Given the description of an element on the screen output the (x, y) to click on. 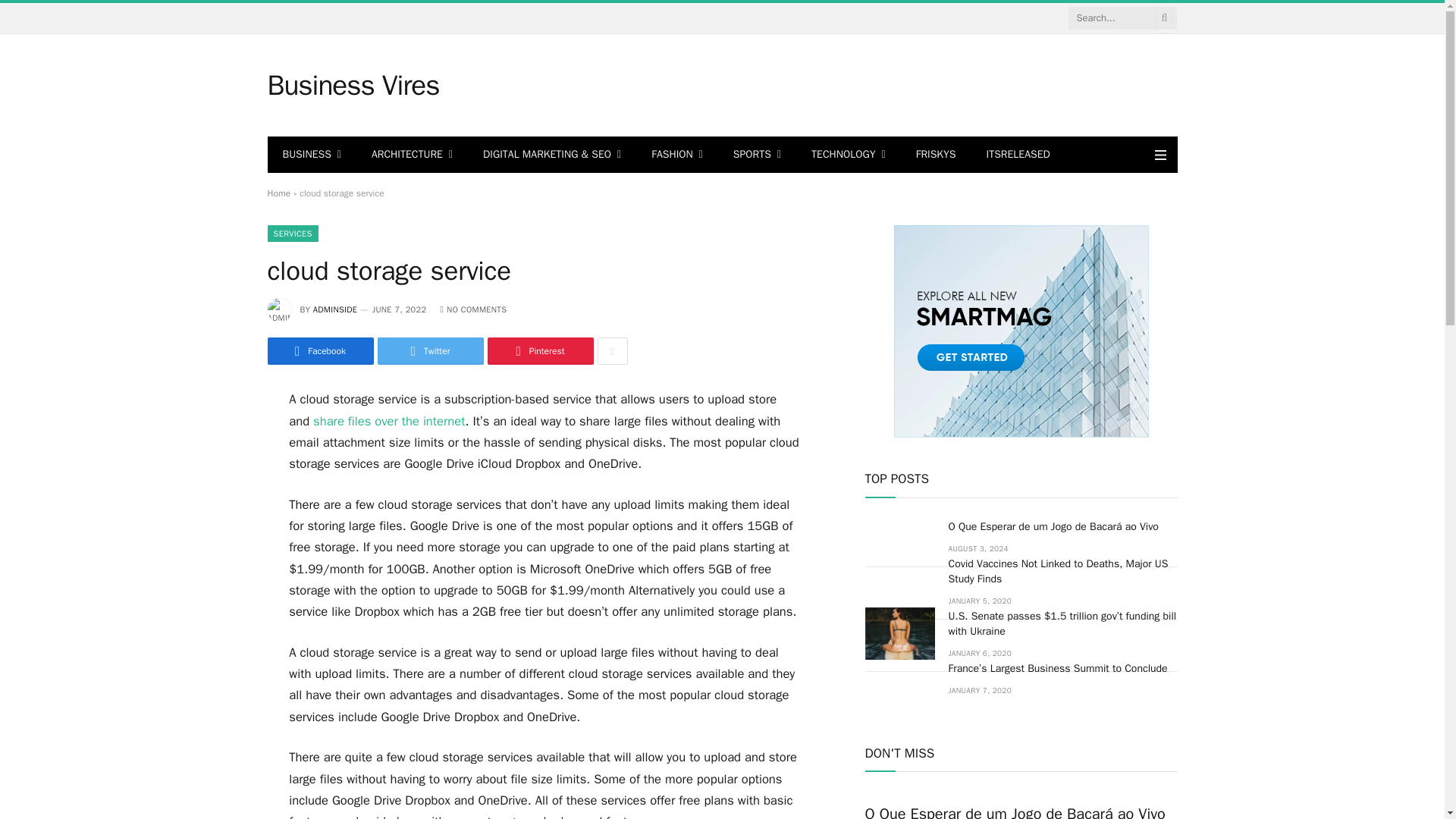
Show More Social Sharing (611, 350)
Share on Pinterest (539, 350)
Business Vires (352, 85)
Business Vires (352, 85)
Share on Facebook (319, 350)
Posts by adminside (335, 308)
